Given the description of an element on the screen output the (x, y) to click on. 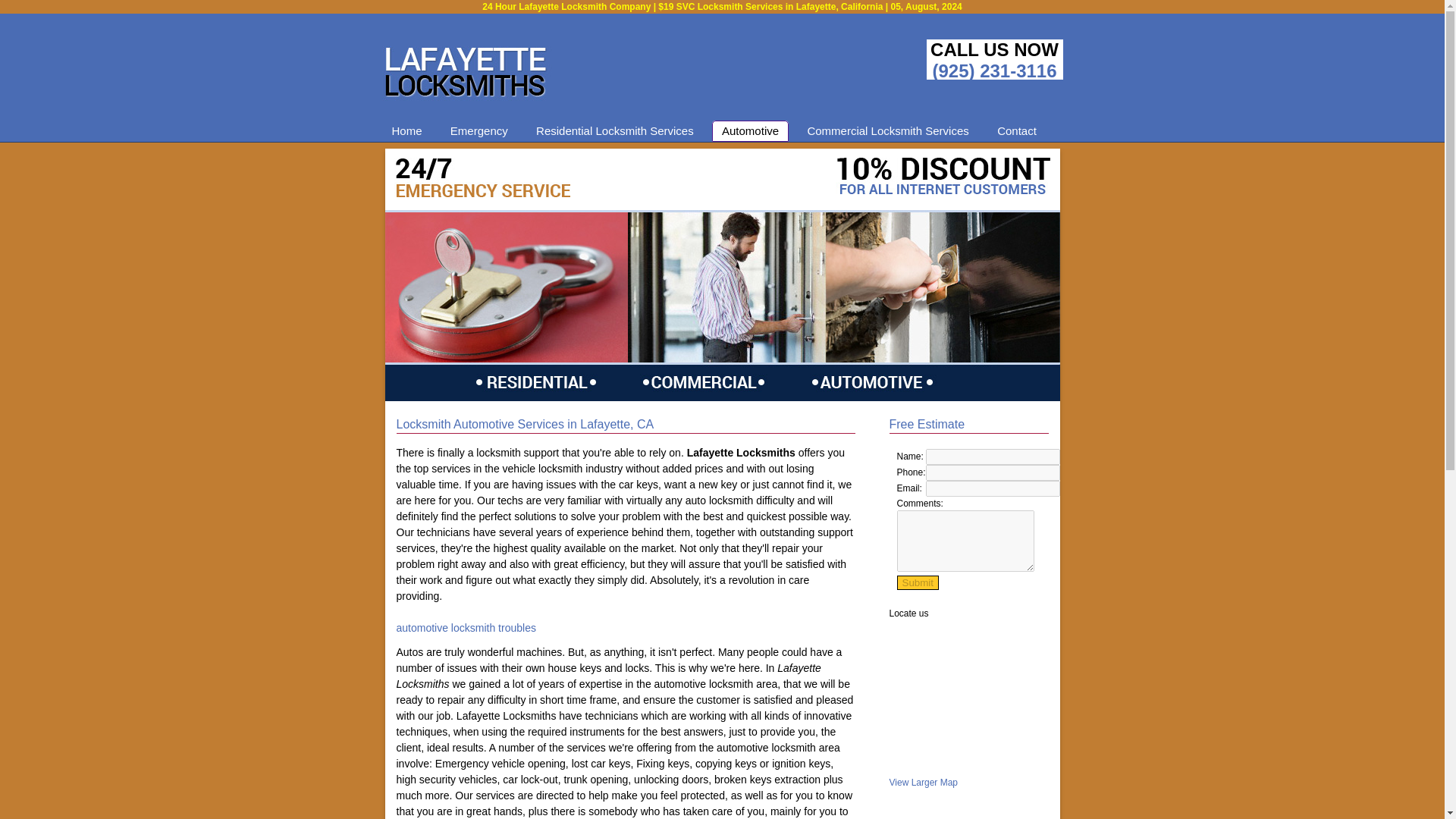
View Larger Map of Lafayette, CA (923, 782)
Residential Locksmith Services (614, 130)
Automotive (750, 130)
View Larger Map (923, 782)
Contact (1016, 130)
Submit (916, 582)
Contact (1016, 130)
Residential Locksmith Services (614, 130)
Commercial Locksmith Services (887, 130)
Commercial Locksmith Services (887, 130)
Automotive (750, 130)
Emergency (479, 130)
Emergency (479, 130)
Submit (916, 582)
Home (406, 130)
